Given the description of an element on the screen output the (x, y) to click on. 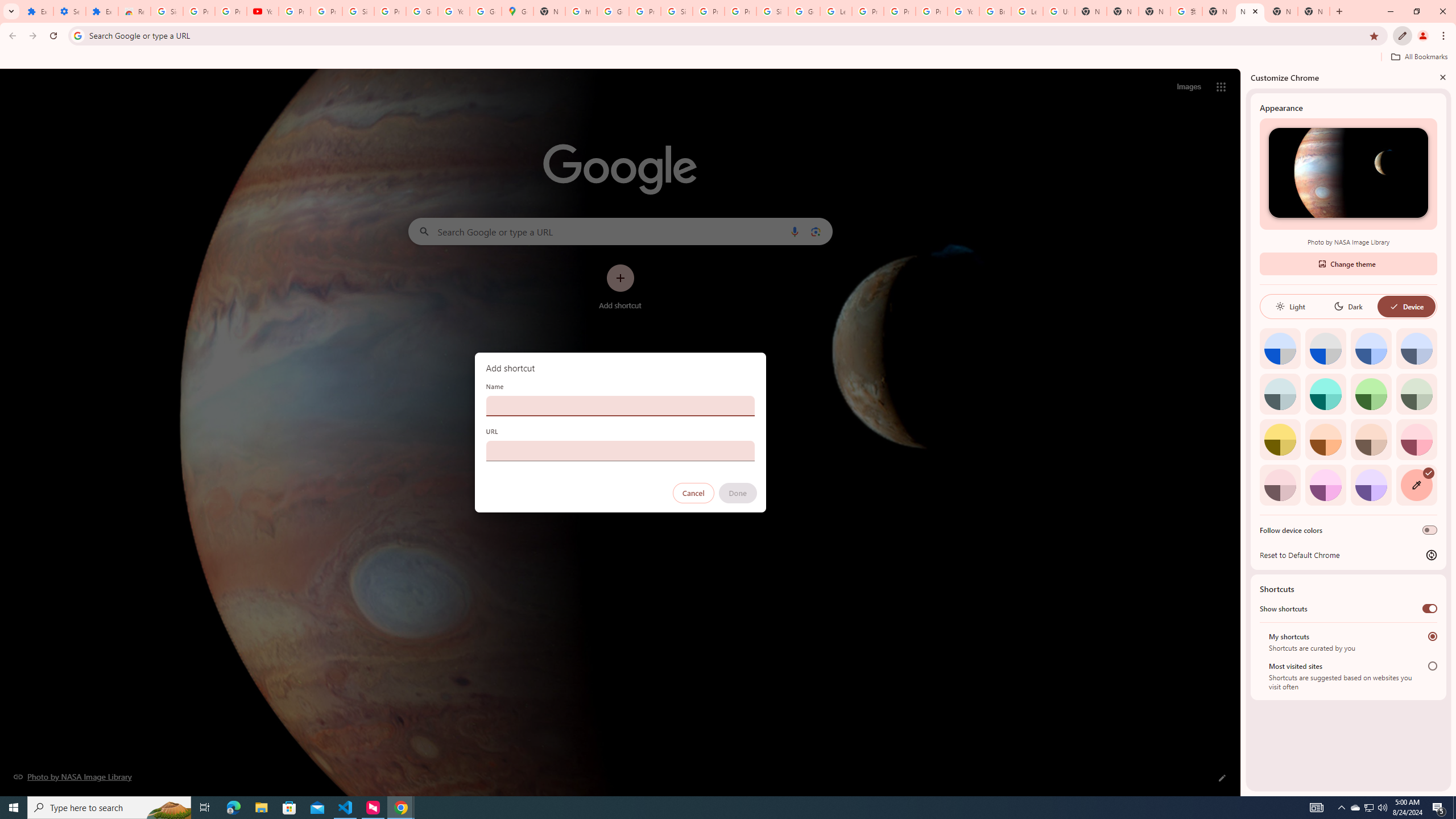
Violet (1371, 484)
Orange (1325, 439)
New Tab (1123, 11)
Apricot (1371, 439)
YouTube (262, 11)
Light (1289, 305)
URL (620, 450)
Sign in - Google Accounts (676, 11)
Green (1371, 393)
